Given the description of an element on the screen output the (x, y) to click on. 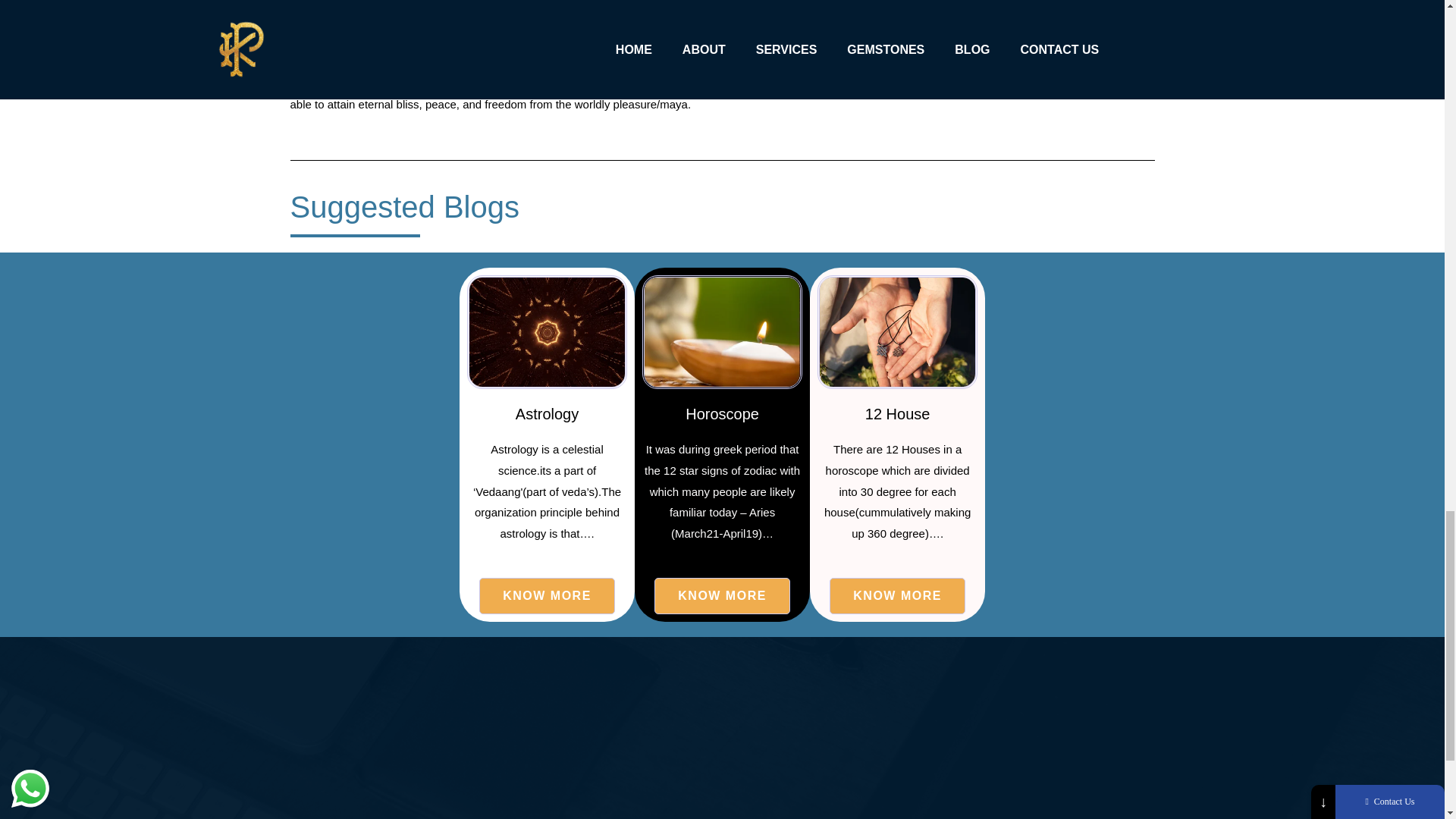
KNOW MORE (546, 596)
KNOW MORE (721, 596)
KNOW MORE (897, 596)
